Given the description of an element on the screen output the (x, y) to click on. 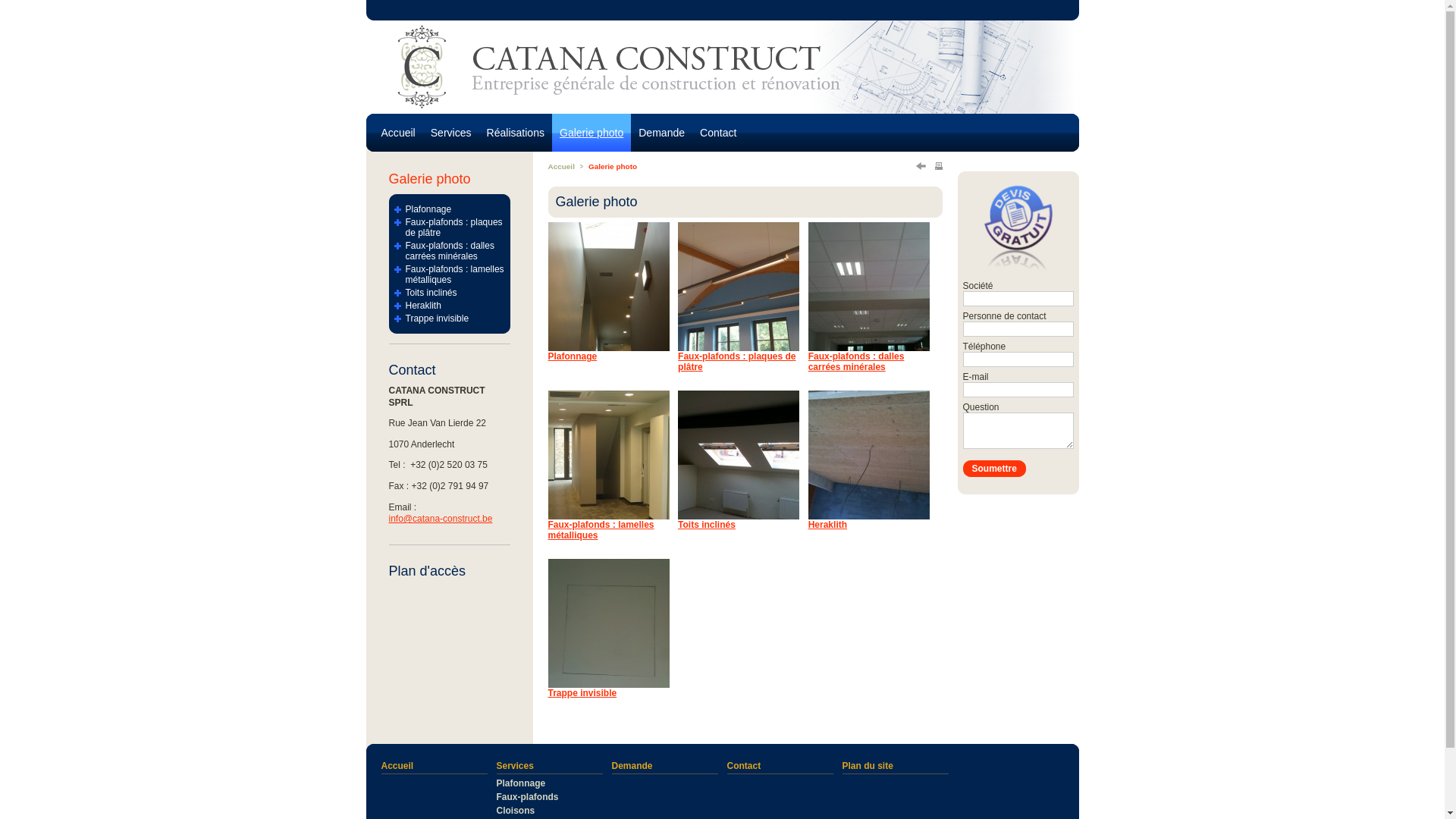
Accueil Element type: text (560, 166)
Demande Element type: text (661, 132)
Catana Construct Element type: hover (721, 146)
Soumettre Element type: text (994, 468)
Plafonnage Element type: text (571, 356)
Plafonnage Element type: hover (607, 345)
Heraklith Element type: text (449, 305)
Imprimer Element type: text (937, 165)
Trappe invisible Element type: hover (607, 682)
Plan du site Element type: text (894, 767)
Galerie photo Element type: text (612, 166)
Trappe invisible Element type: text (449, 318)
Accueil Element type: text (397, 132)
Services Element type: text (548, 767)
Galerie photo Element type: text (429, 178)
Galerie photo Element type: text (591, 132)
Accueil Element type: text (433, 767)
Cloisons Element type: text (548, 810)
Faux-plafonds Element type: text (548, 796)
Contact Element type: text (779, 767)
Plafonnage Element type: text (449, 208)
Contact Element type: text (717, 132)
Trappe invisible Element type: text (581, 692)
info@catana-construct.be Element type: text (440, 518)
Heraklith Element type: hover (868, 513)
Services Element type: text (451, 132)
Demande Element type: text (664, 767)
RETOUR Element type: text (920, 165)
Heraklith Element type: text (827, 524)
Plafonnage Element type: text (548, 783)
